Given the description of an element on the screen output the (x, y) to click on. 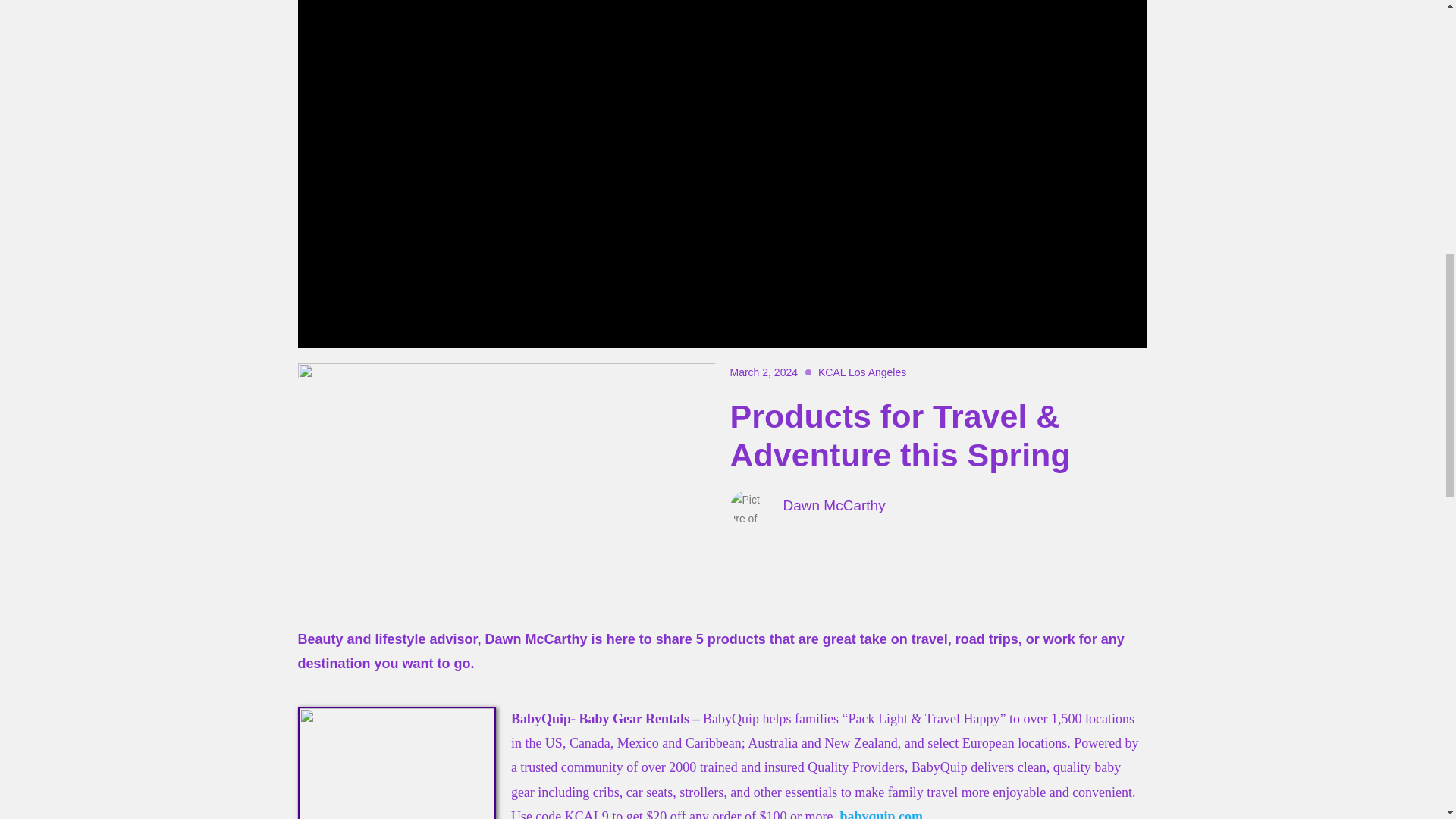
babyquip.com (881, 814)
